Given the description of an element on the screen output the (x, y) to click on. 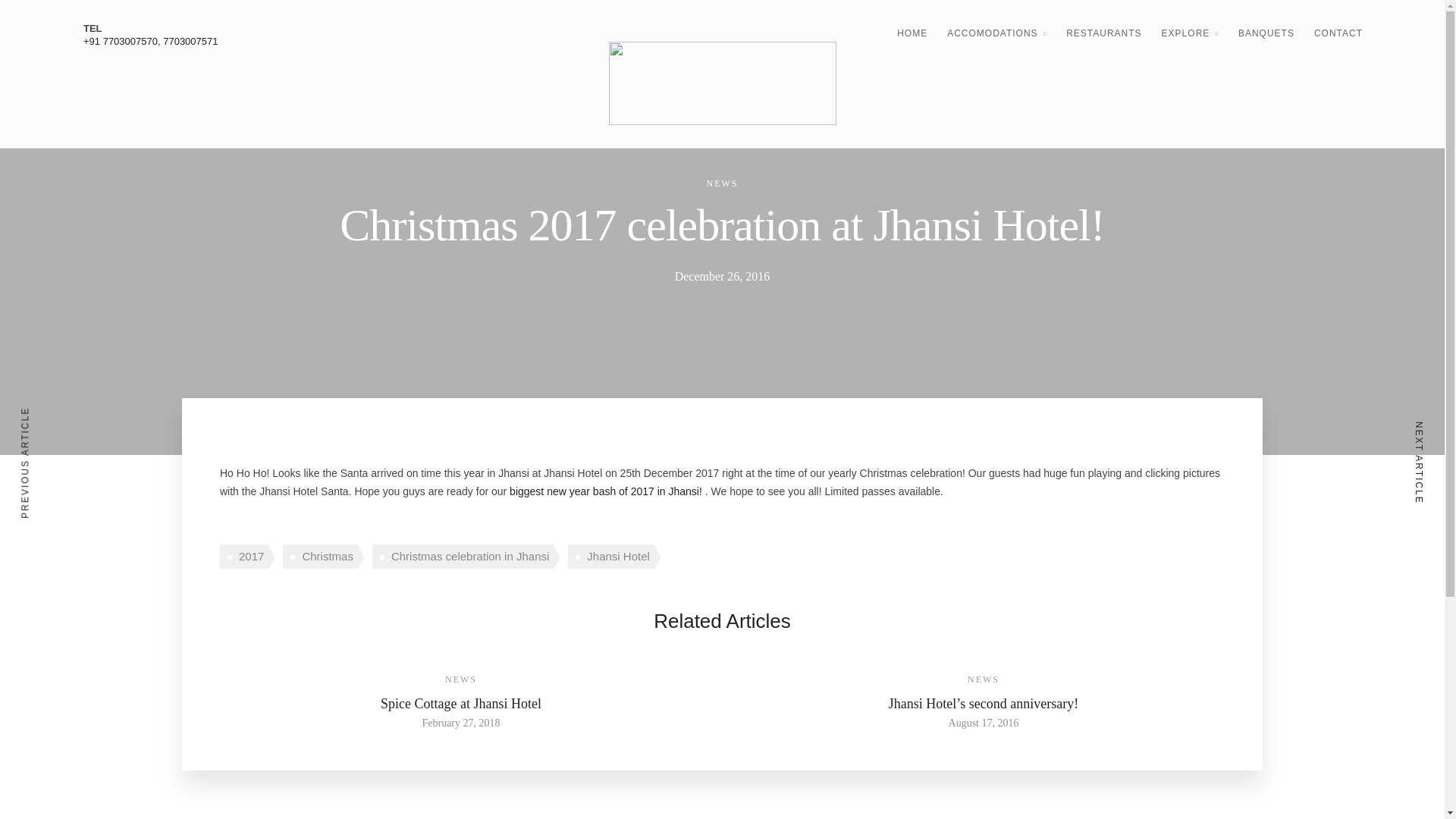
Spice Cottage at Jhansi Hotel (460, 703)
RESTAURANTS (1103, 33)
Call Us (150, 41)
BANQUETS (1266, 33)
HOME (911, 33)
Spice Cottage at Jhansi Hotel (460, 722)
EXPLORE (1189, 34)
ACCOMODATIONS (996, 34)
